Given the description of an element on the screen output the (x, y) to click on. 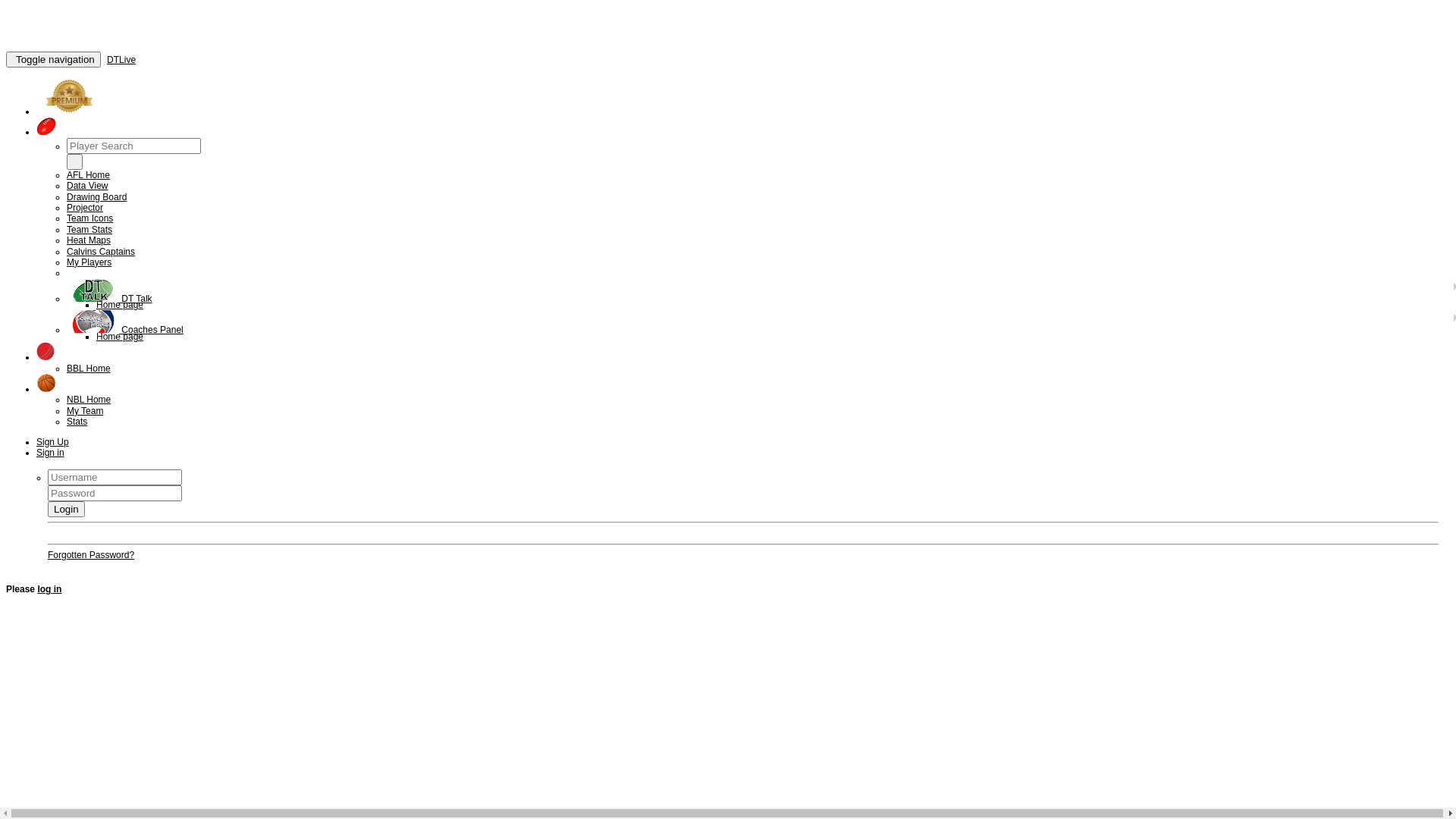
Team Icons Element type: text (89, 218)
Data View Element type: text (86, 185)
Home page Element type: text (119, 336)
My Players Element type: text (88, 262)
Forgotten Password? Element type: text (90, 554)
Login using Facebook Element type: text (91, 532)
My Team Element type: text (84, 410)
Home page Element type: text (119, 304)
DT Talk Element type: text (109, 298)
Calvins Captains Element type: text (100, 251)
Stats Element type: text (76, 421)
Coaches Panel Element type: text (124, 329)
NBL Home Element type: text (88, 399)
DTLive Element type: text (121, 59)
Heat Maps Element type: text (88, 240)
Team Stats Element type: text (89, 229)
log in Element type: text (49, 588)
Login Element type: text (65, 509)
Toggle navigation Element type: text (53, 59)
Sign Up Element type: text (52, 441)
BBL Home Element type: text (88, 368)
Drawing Board Element type: text (96, 196)
AFL Home Element type: text (87, 174)
Sign in Element type: text (50, 452)
Projector Element type: text (84, 207)
